Given the description of an element on the screen output the (x, y) to click on. 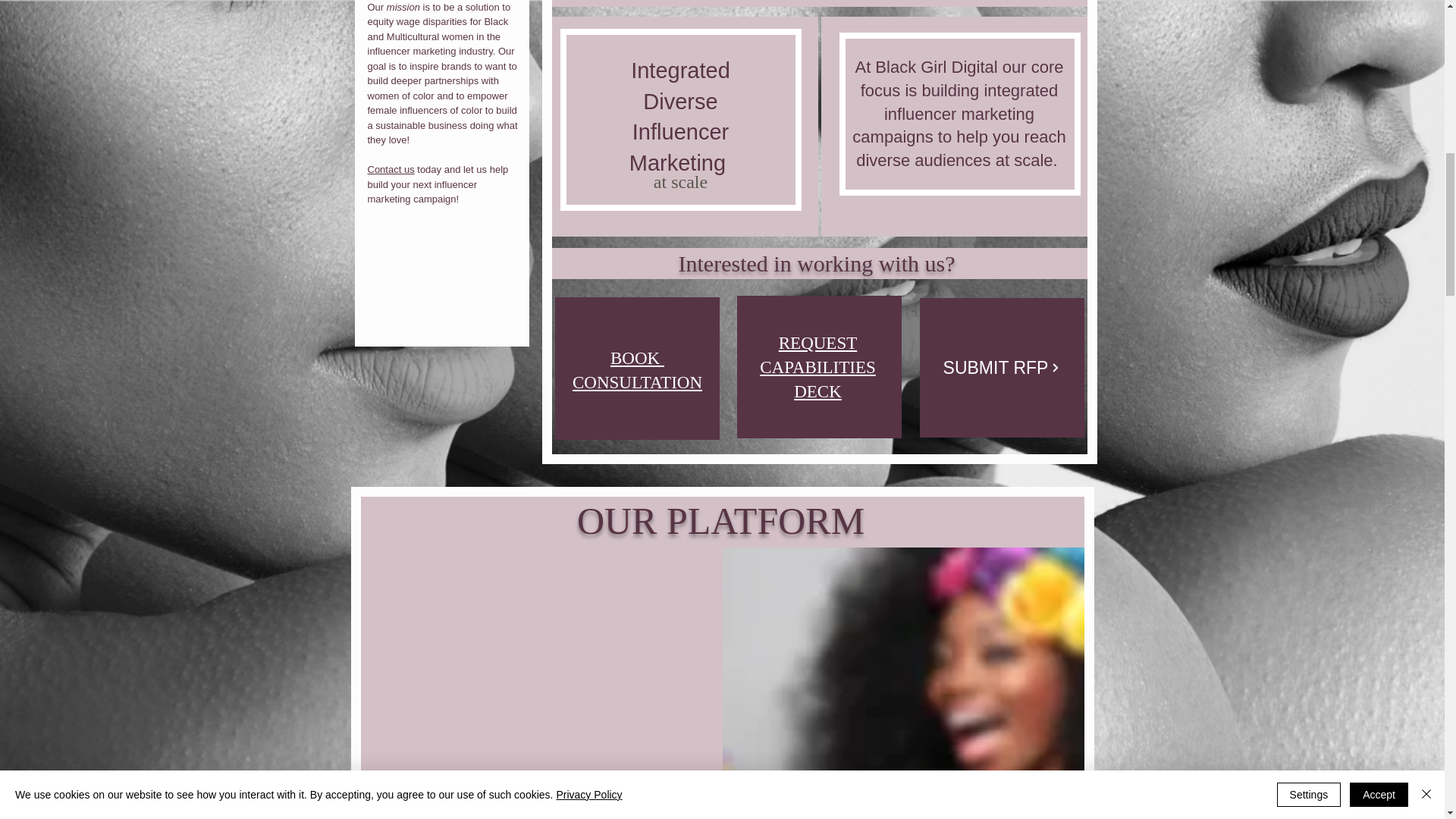
Contact us (389, 169)
SUBMIT RFP (818, 367)
